Given the description of an element on the screen output the (x, y) to click on. 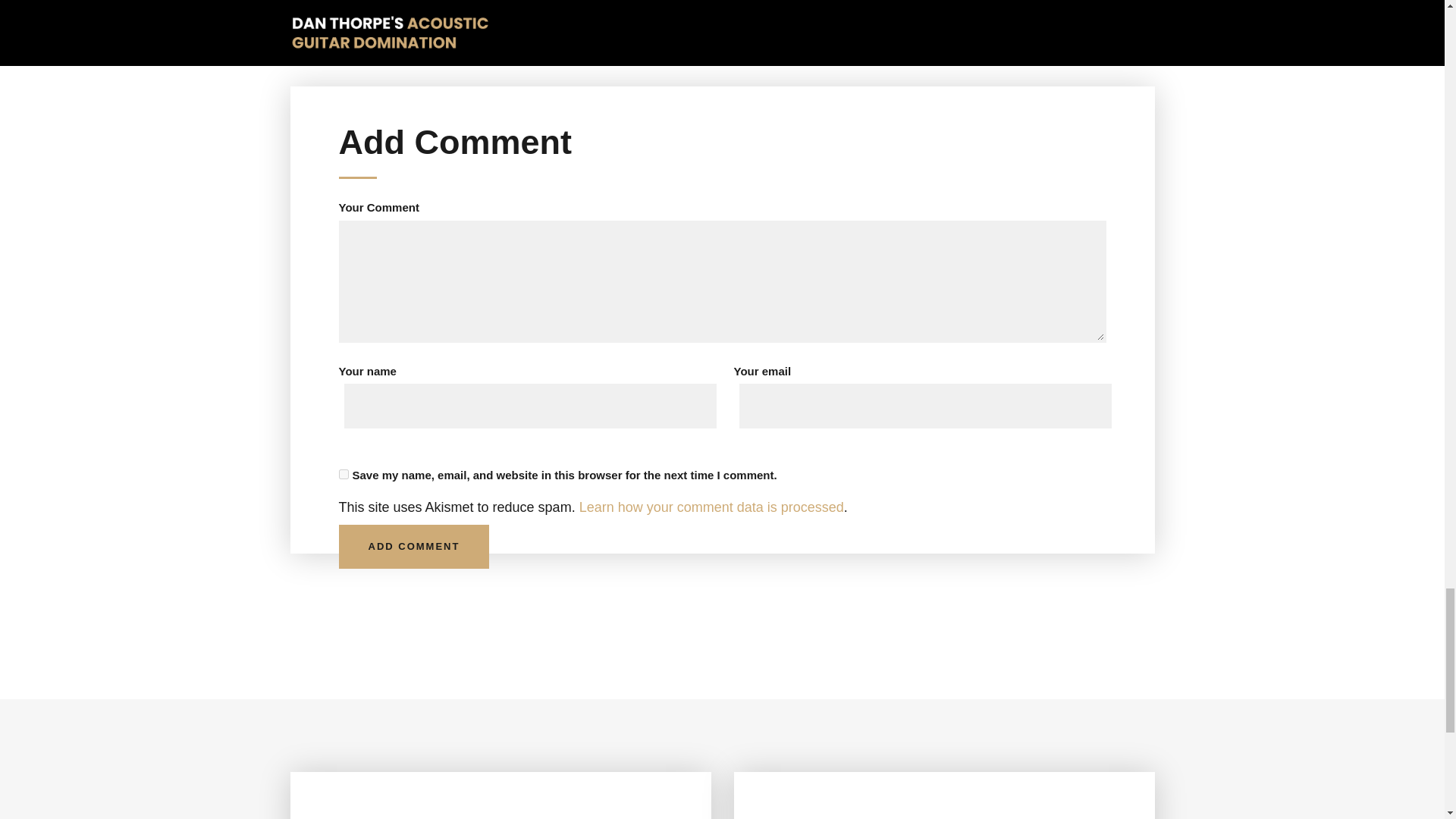
The Unforgettable Christmas Truce of 1914 (394, 795)
HERE (805, 28)
yes (342, 474)
Add Comment (413, 546)
Add Comment (413, 546)
